Given the description of an element on the screen output the (x, y) to click on. 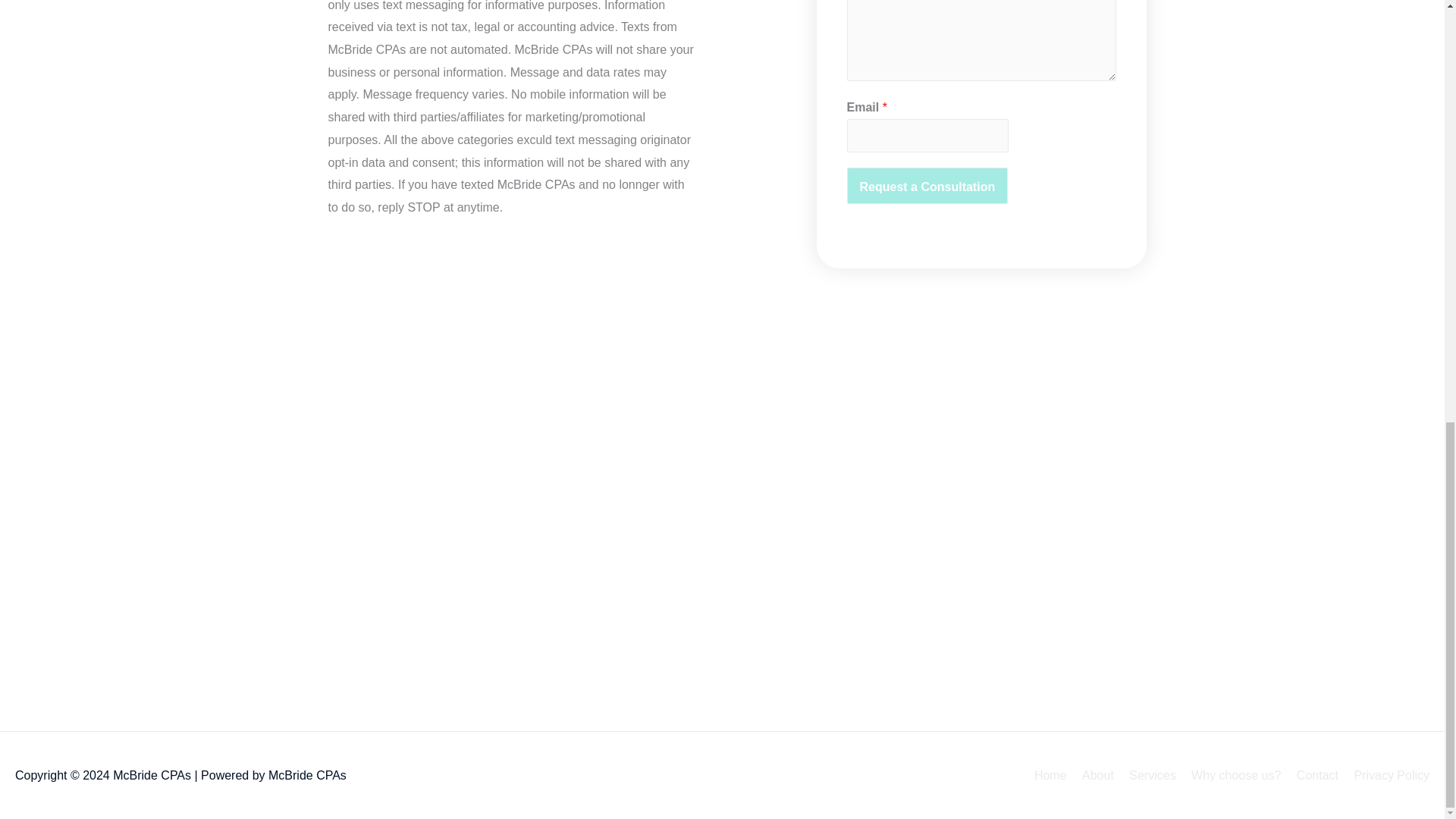
Why choose us? (1230, 775)
Privacy Policy (1384, 775)
Contact (1311, 775)
About (1091, 775)
Home (1050, 775)
Request a Consultation (926, 185)
Services (1145, 775)
